Given the description of an element on the screen output the (x, y) to click on. 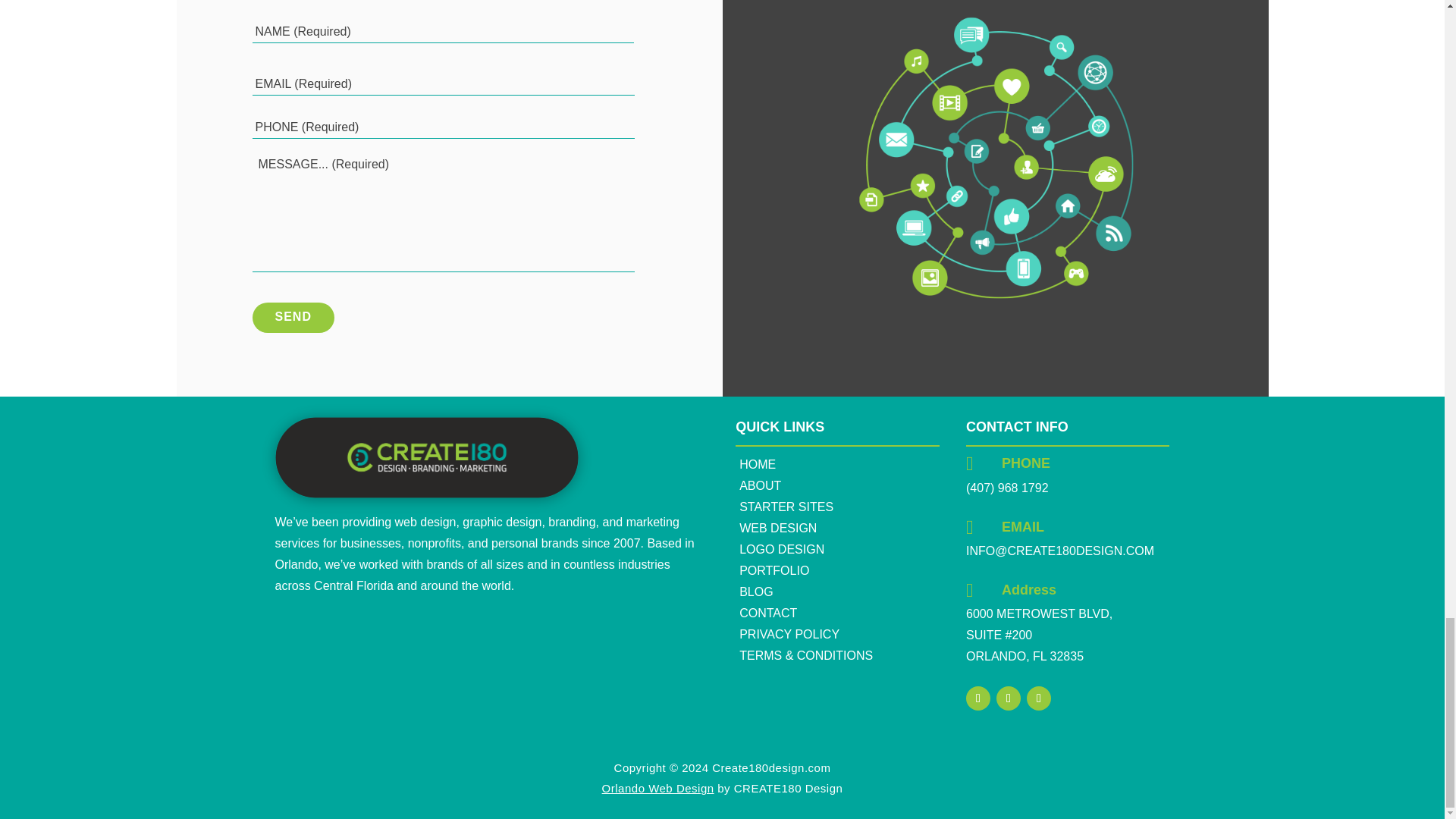
C180D-Footer-Logo (426, 456)
Follow on Instagram (1007, 698)
Send (292, 317)
Follow on Youtube (1038, 698)
Follow on Facebook (978, 698)
